Given the description of an element on the screen output the (x, y) to click on. 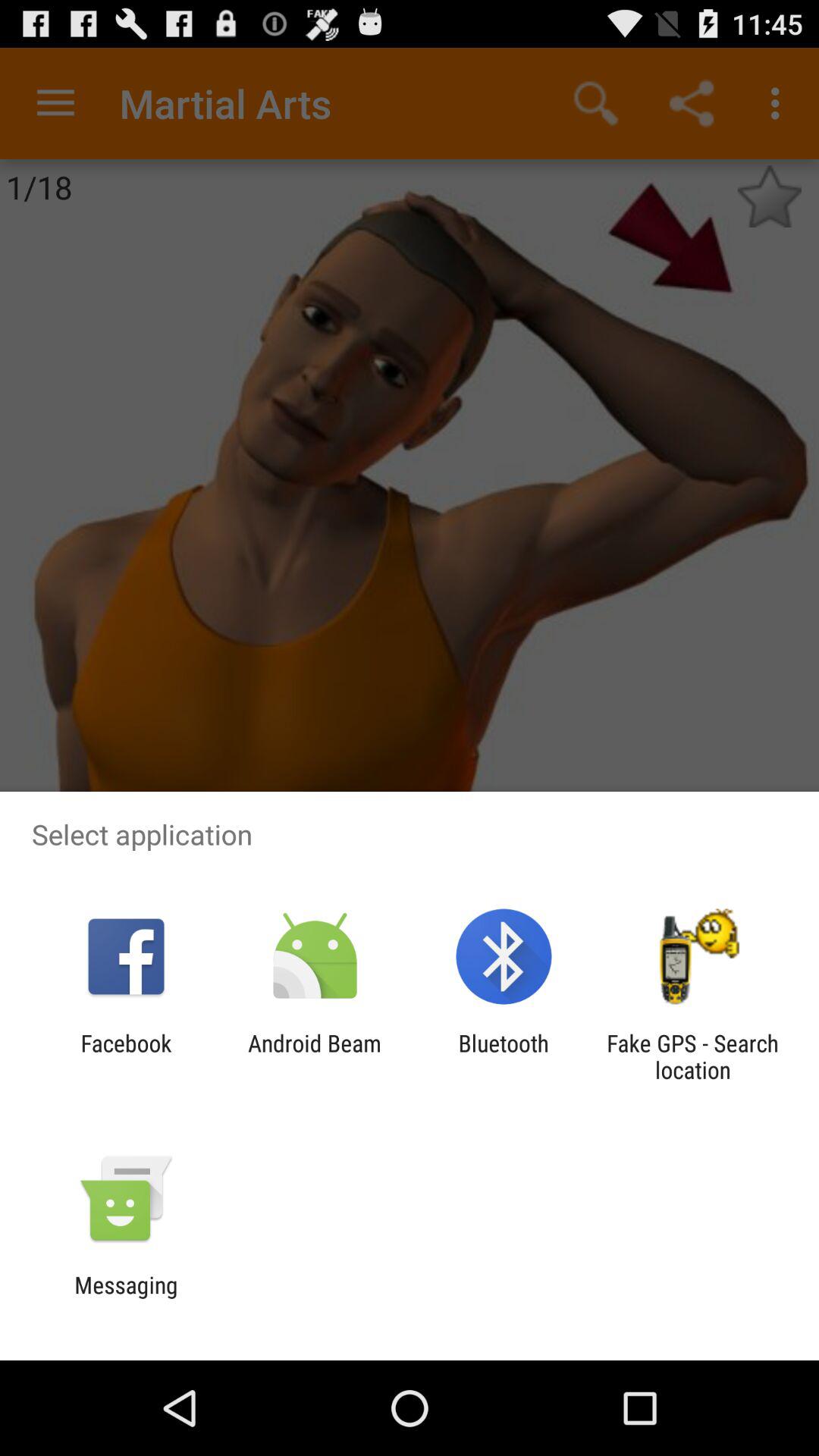
tap bluetooth app (503, 1056)
